Given the description of an element on the screen output the (x, y) to click on. 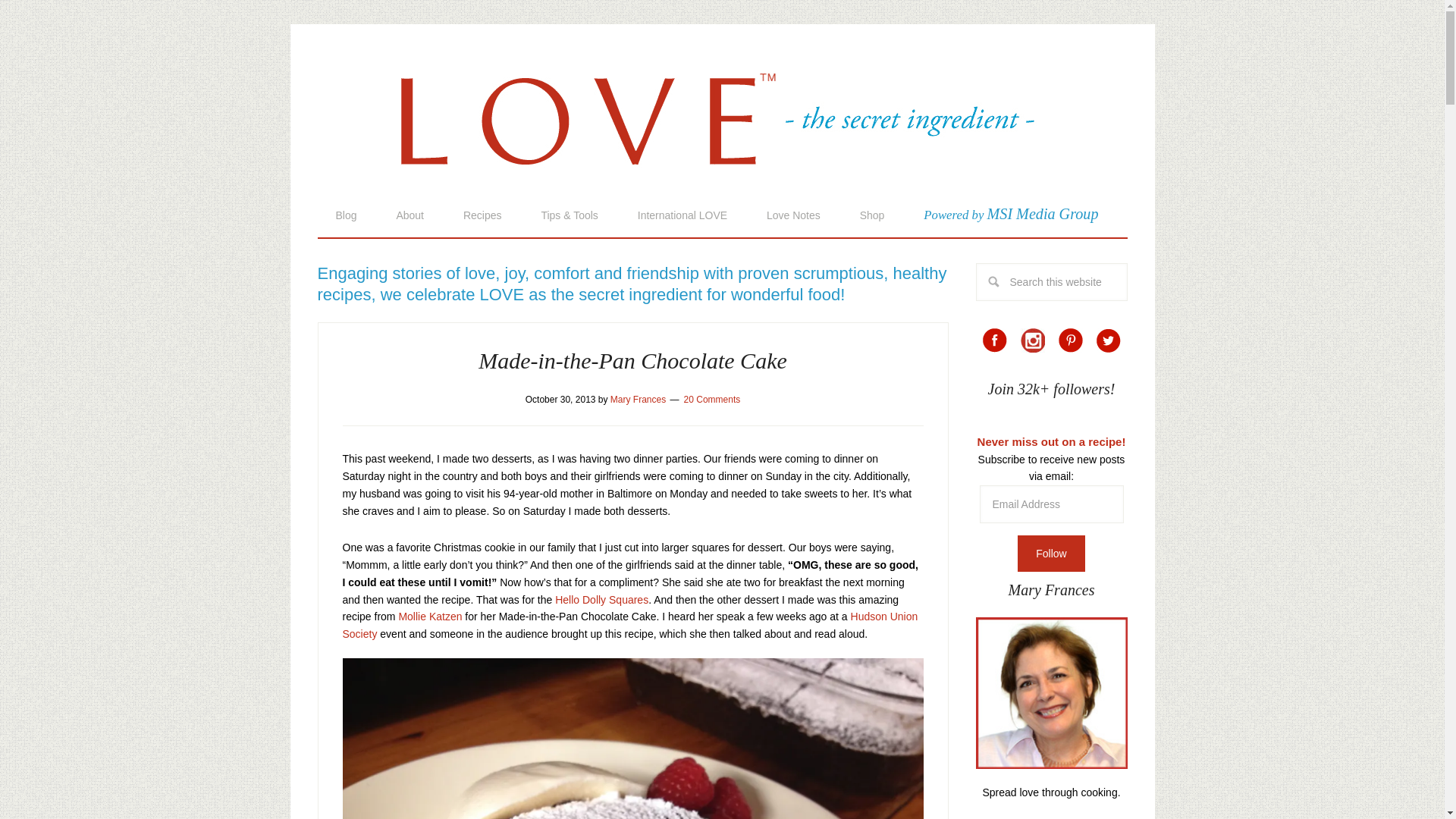
International LOVE (682, 214)
About (409, 214)
Follow (1050, 553)
Mollie Katzen (429, 616)
Powered by MSI Media Group (1010, 213)
Recipes (482, 214)
Mary Frances (637, 398)
Made-in-the-Pan Chocolate Cake (633, 360)
Cookie time! (600, 599)
20 Comments (712, 398)
Hudson Union Society (630, 624)
Mollie Katzen website (429, 616)
Shop (871, 214)
